Given the description of an element on the screen output the (x, y) to click on. 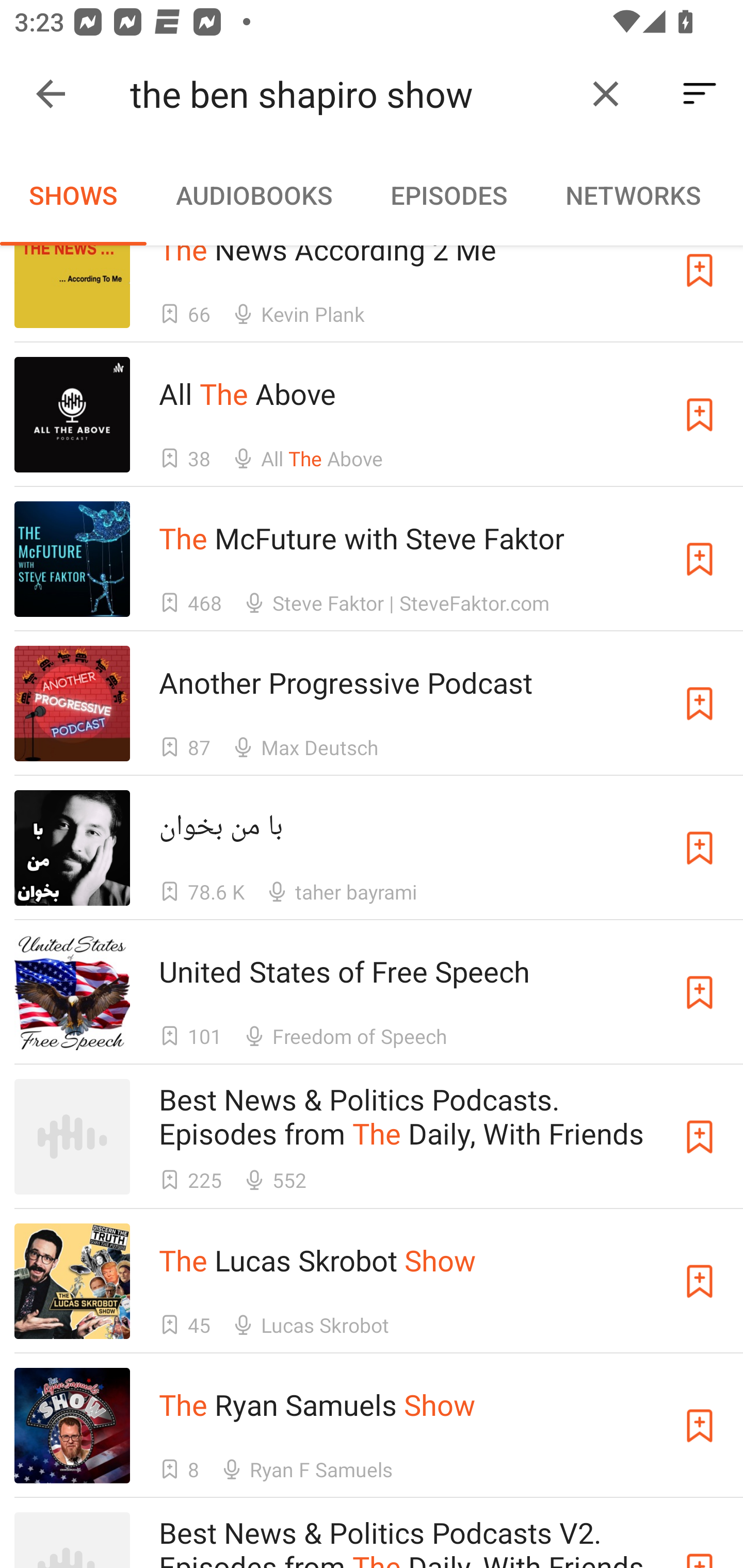
Collapse (50, 93)
Clear query (605, 93)
Sort By (699, 93)
the ben shapiro show (349, 94)
SHOWS (73, 195)
AUDIOBOOKS (253, 195)
EPISODES (448, 195)
NETWORKS (632, 195)
Subscribe (699, 286)
Subscribe (699, 414)
Subscribe (699, 558)
Subscribe (699, 704)
Subscribe (699, 848)
Subscribe (699, 992)
Subscribe (699, 1136)
Subscribe (699, 1281)
Subscribe (699, 1425)
